Given the description of an element on the screen output the (x, y) to click on. 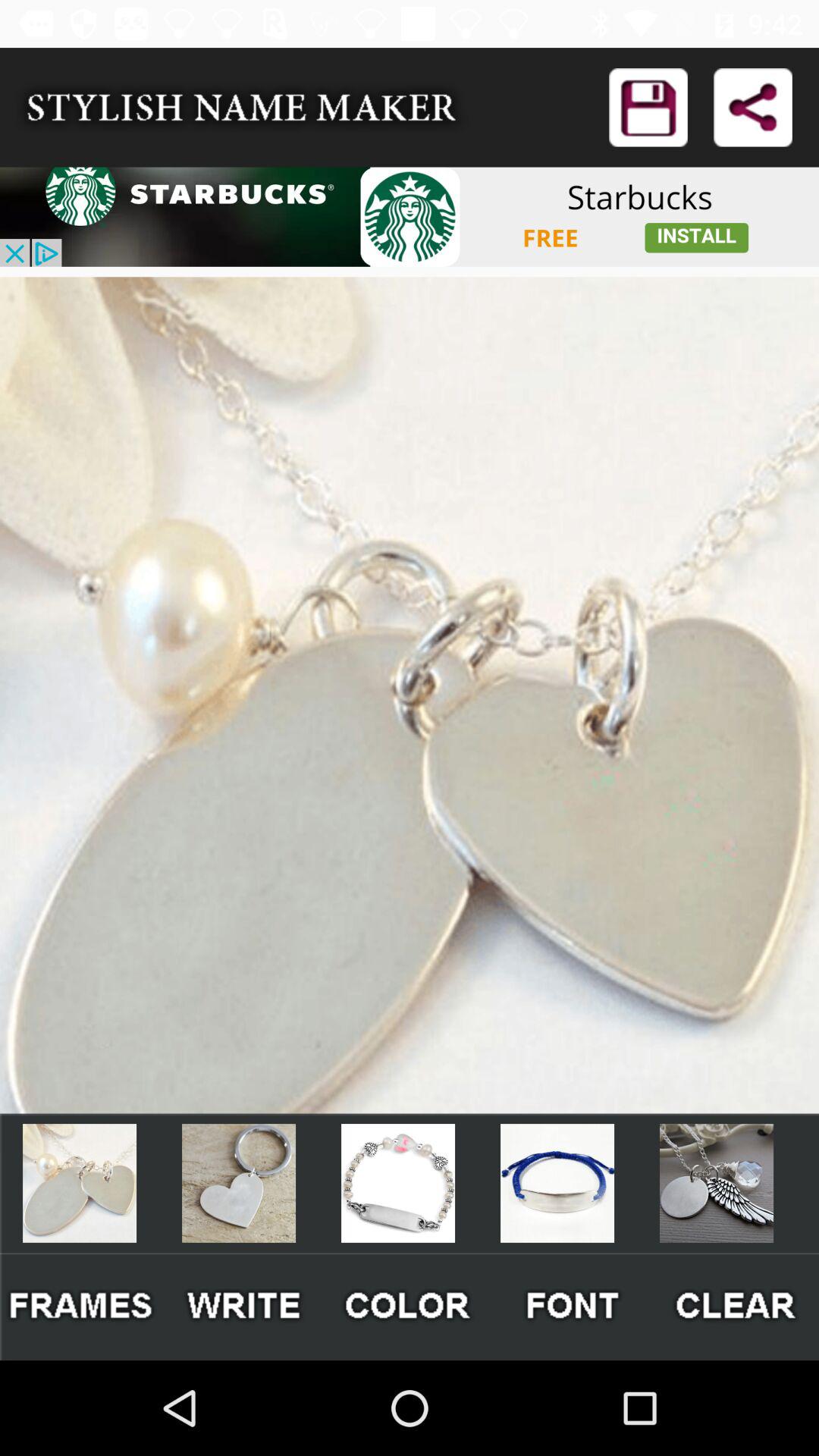
write a message (245, 1306)
